Given the description of an element on the screen output the (x, y) to click on. 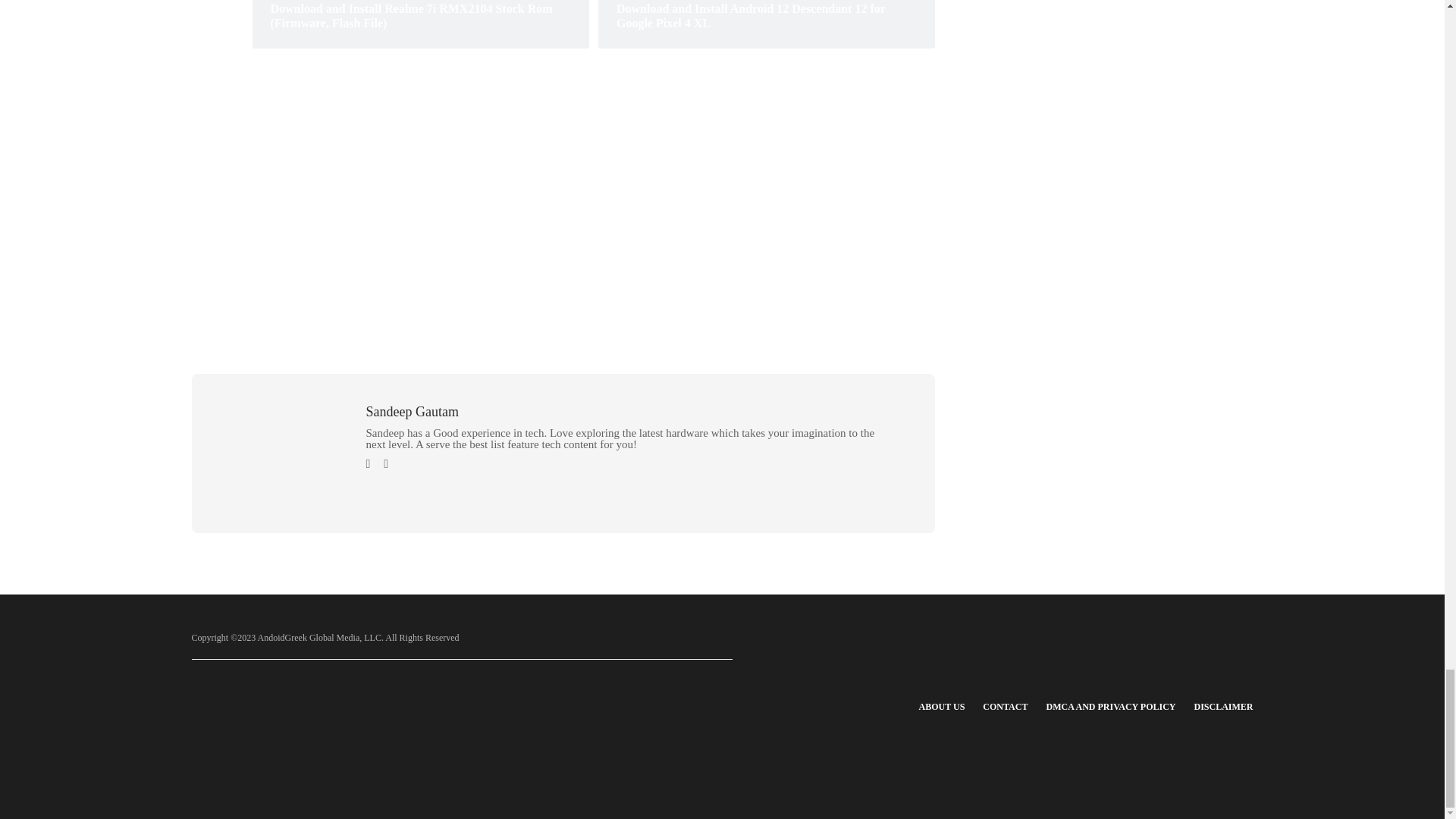
DMCA.com Protection Status (430, 730)
